Given the description of an element on the screen output the (x, y) to click on. 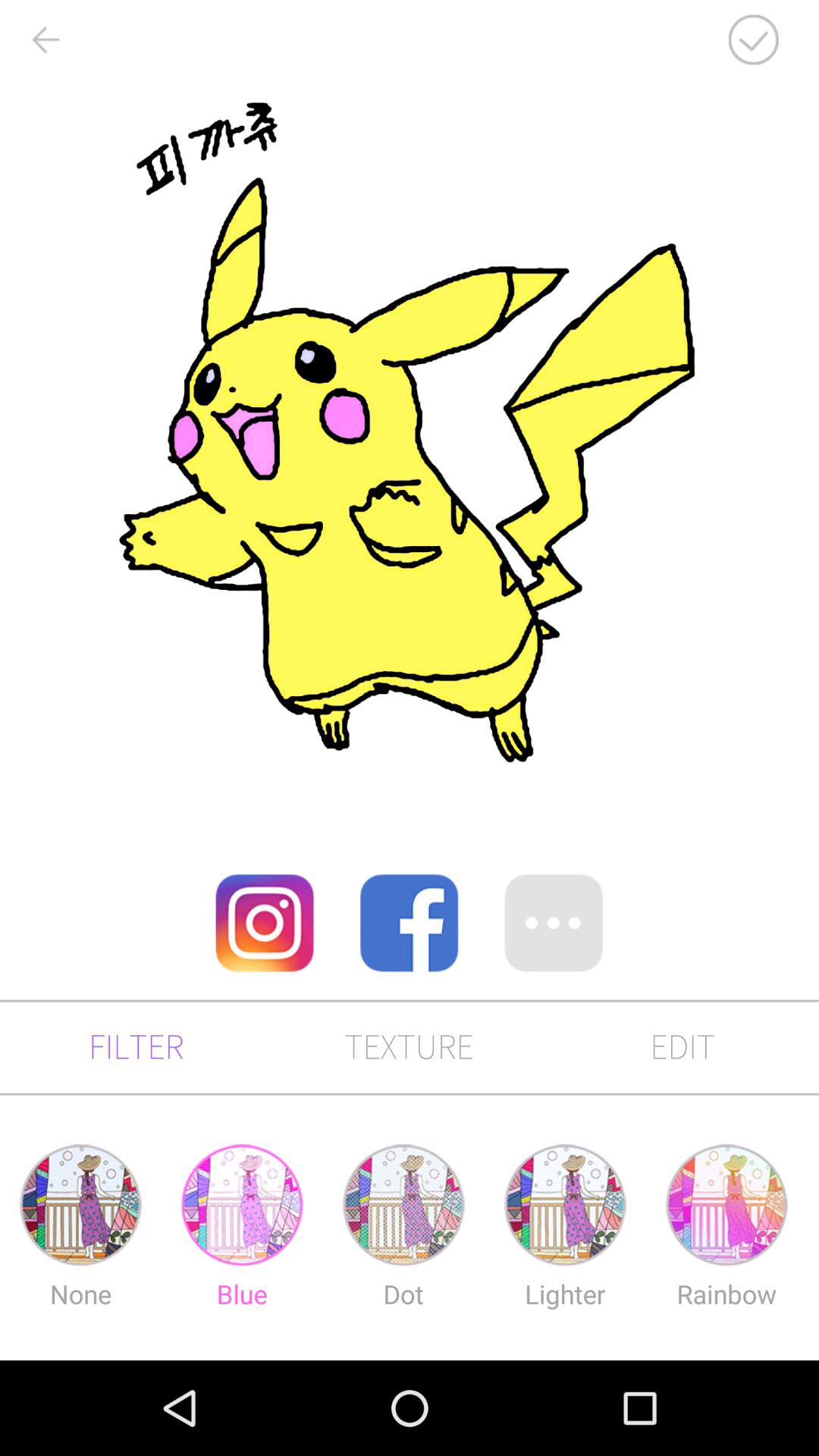
go to instagram (264, 922)
